Given the description of an element on the screen output the (x, y) to click on. 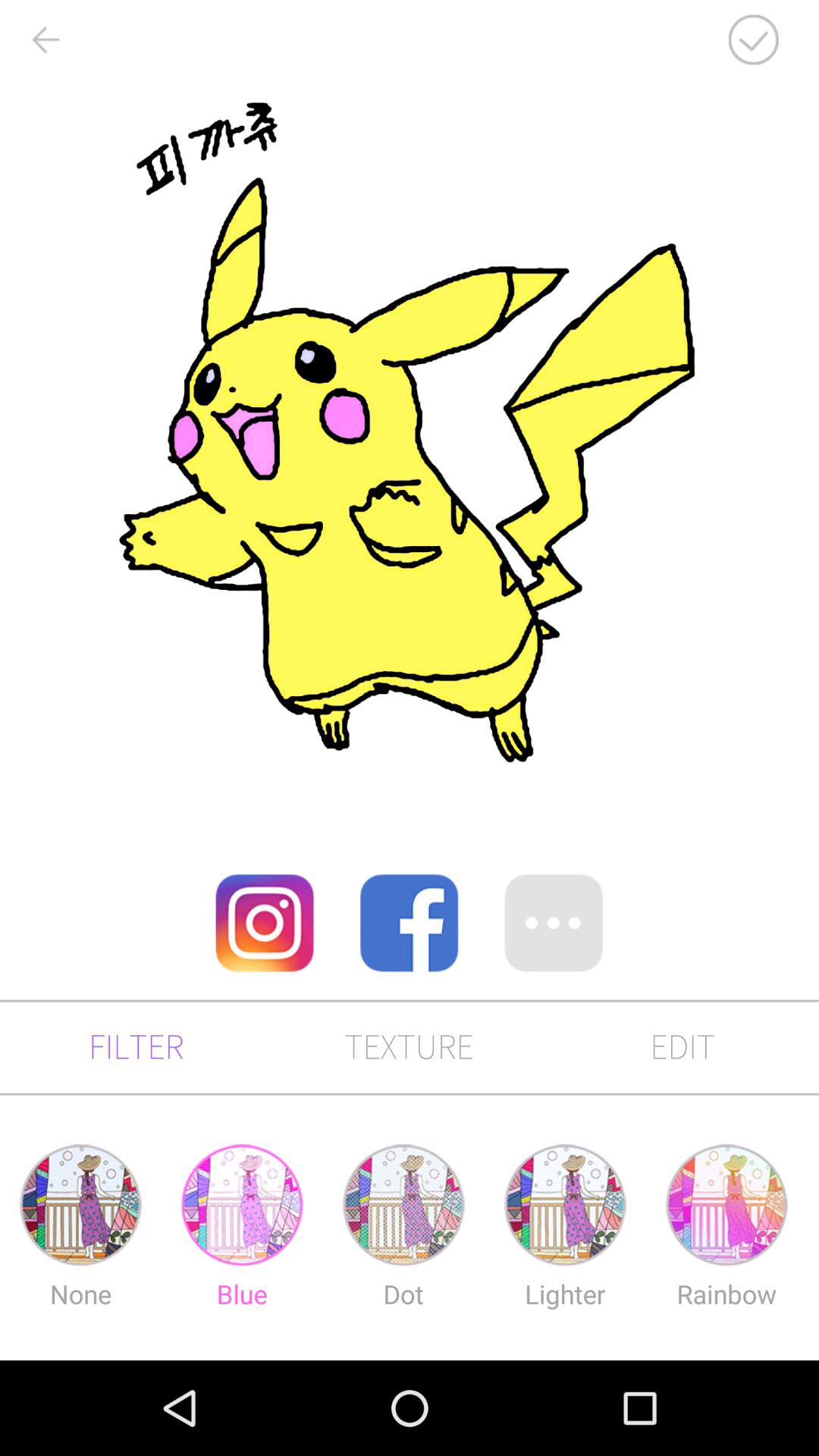
go to instagram (264, 922)
